Given the description of an element on the screen output the (x, y) to click on. 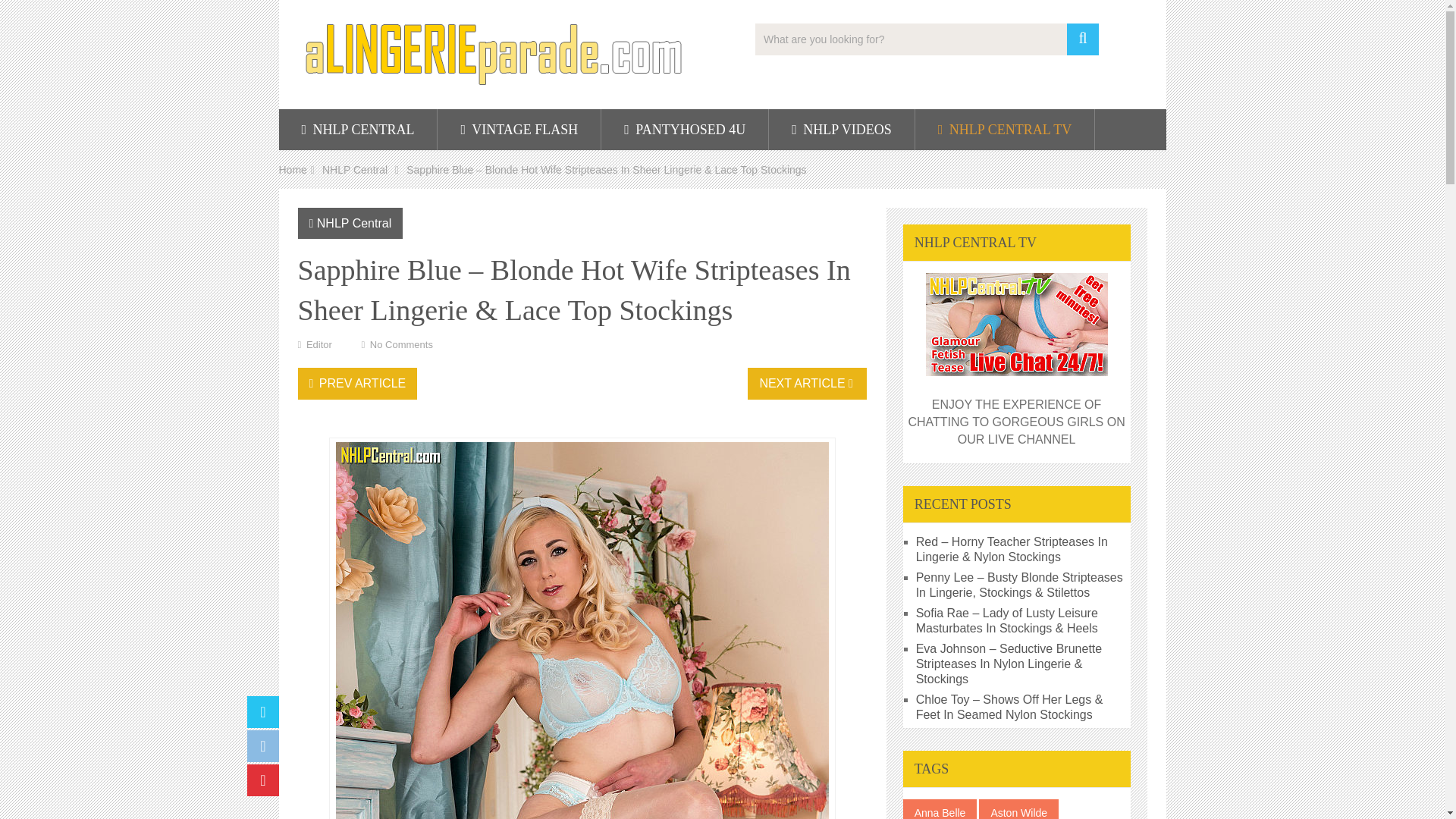
Editor (318, 344)
Click here for PH4U scene reviews (684, 128)
PREV ARTICLE (356, 383)
Home (293, 169)
NHLP CENTRAL (358, 128)
NEXT ARTICLE (807, 383)
Click here for VF scene reviews (518, 128)
NHLP VIDEOS (841, 128)
VINTAGE FLASH (518, 128)
Posts by Editor (318, 344)
View all posts in NHLP Central (354, 223)
No Comments (400, 344)
NHLP Central (354, 223)
PANTYHOSED 4U (684, 128)
